Given the description of an element on the screen output the (x, y) to click on. 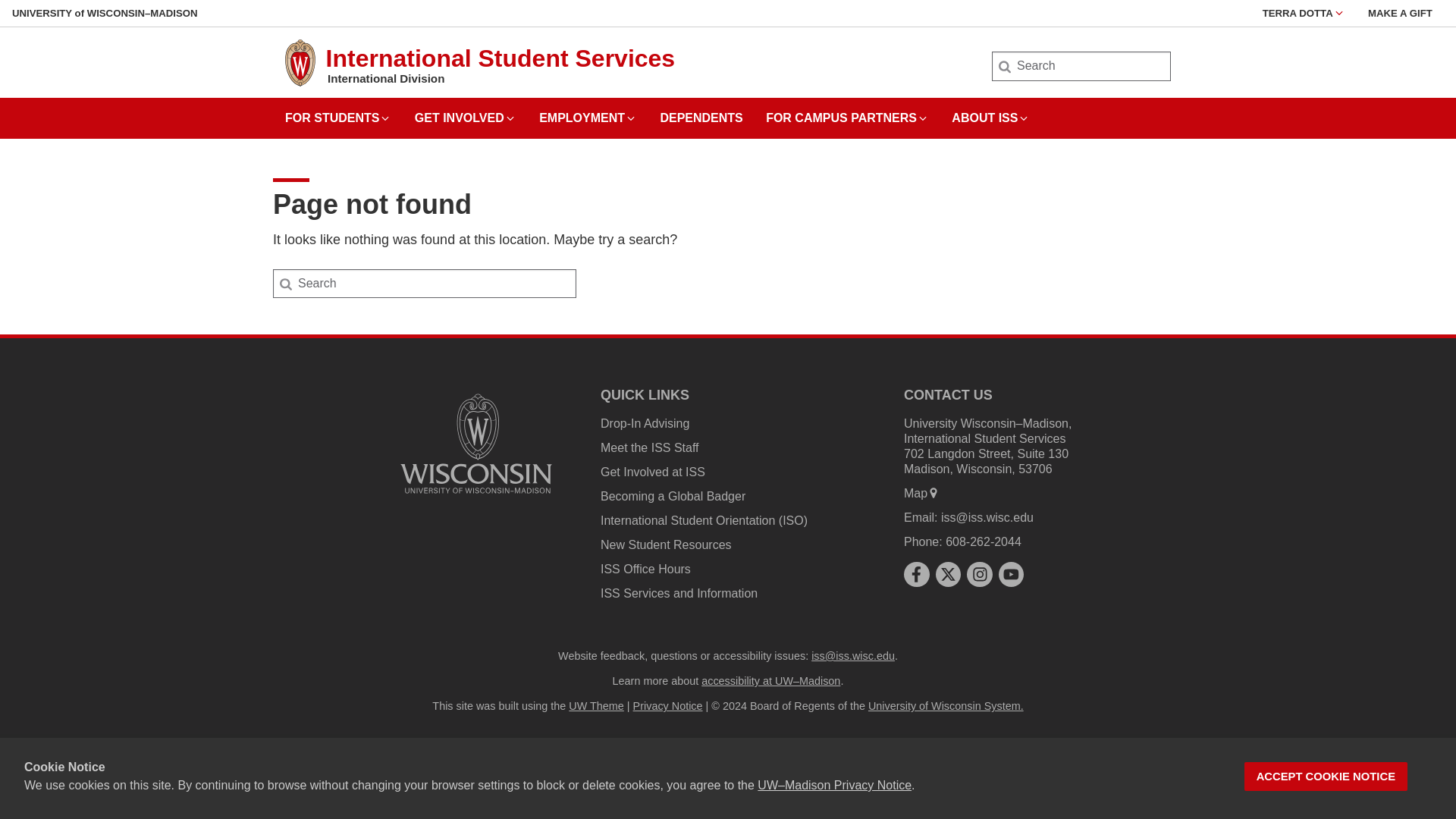
youtube (1011, 574)
instagram (980, 574)
International Student Services (500, 58)
Expand (922, 118)
Expand (509, 118)
Expand (630, 118)
University logo that links to main university website (475, 443)
GET INVOLVED Expand (465, 112)
x twitter (948, 574)
map marker (933, 492)
FOR STUDENTS Expand (338, 112)
EXPAND (1339, 12)
Expand (1023, 118)
facebook (916, 574)
Expand (384, 118)
